Given the description of an element on the screen output the (x, y) to click on. 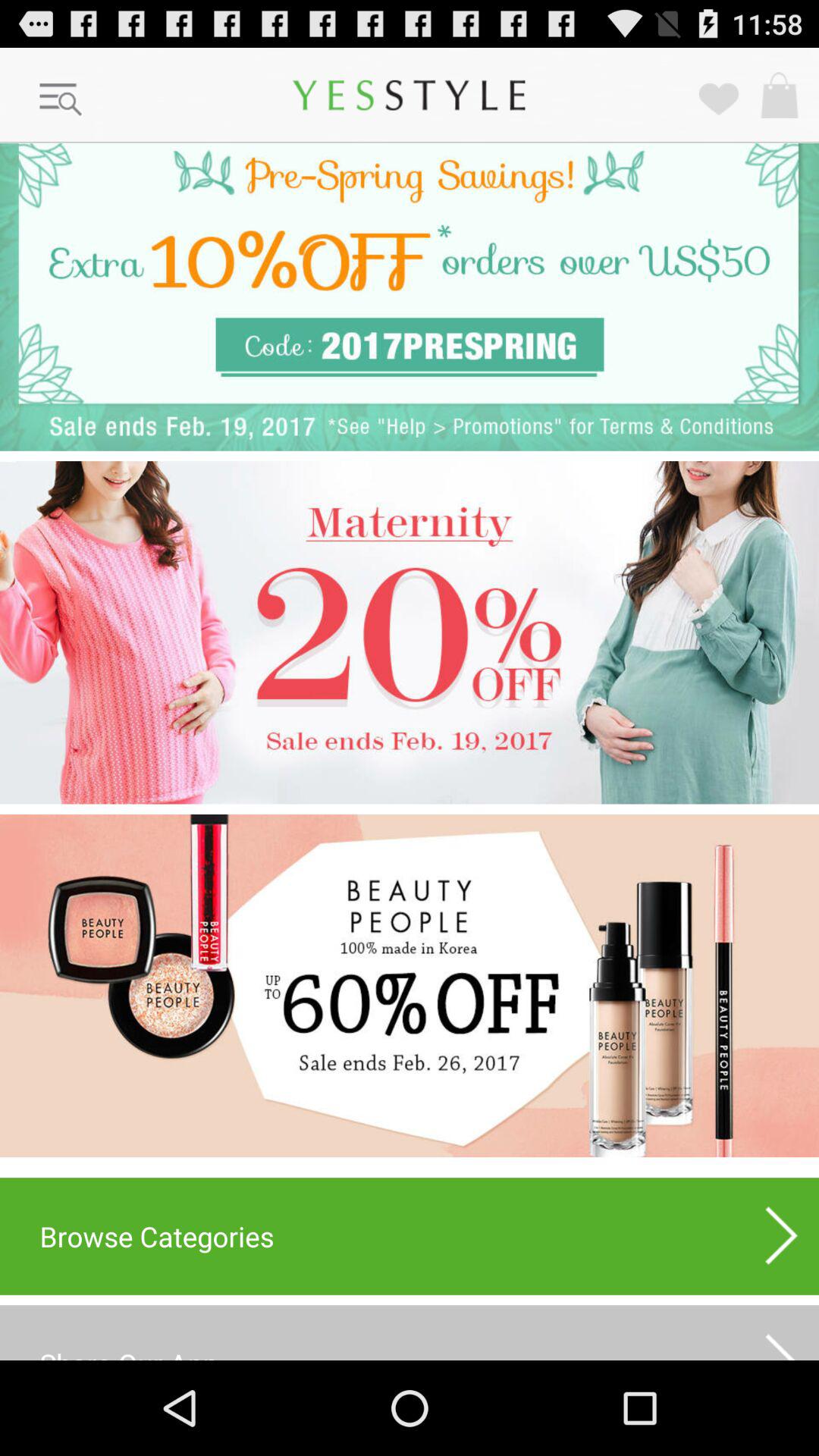
open menu (61, 100)
